Given the description of an element on the screen output the (x, y) to click on. 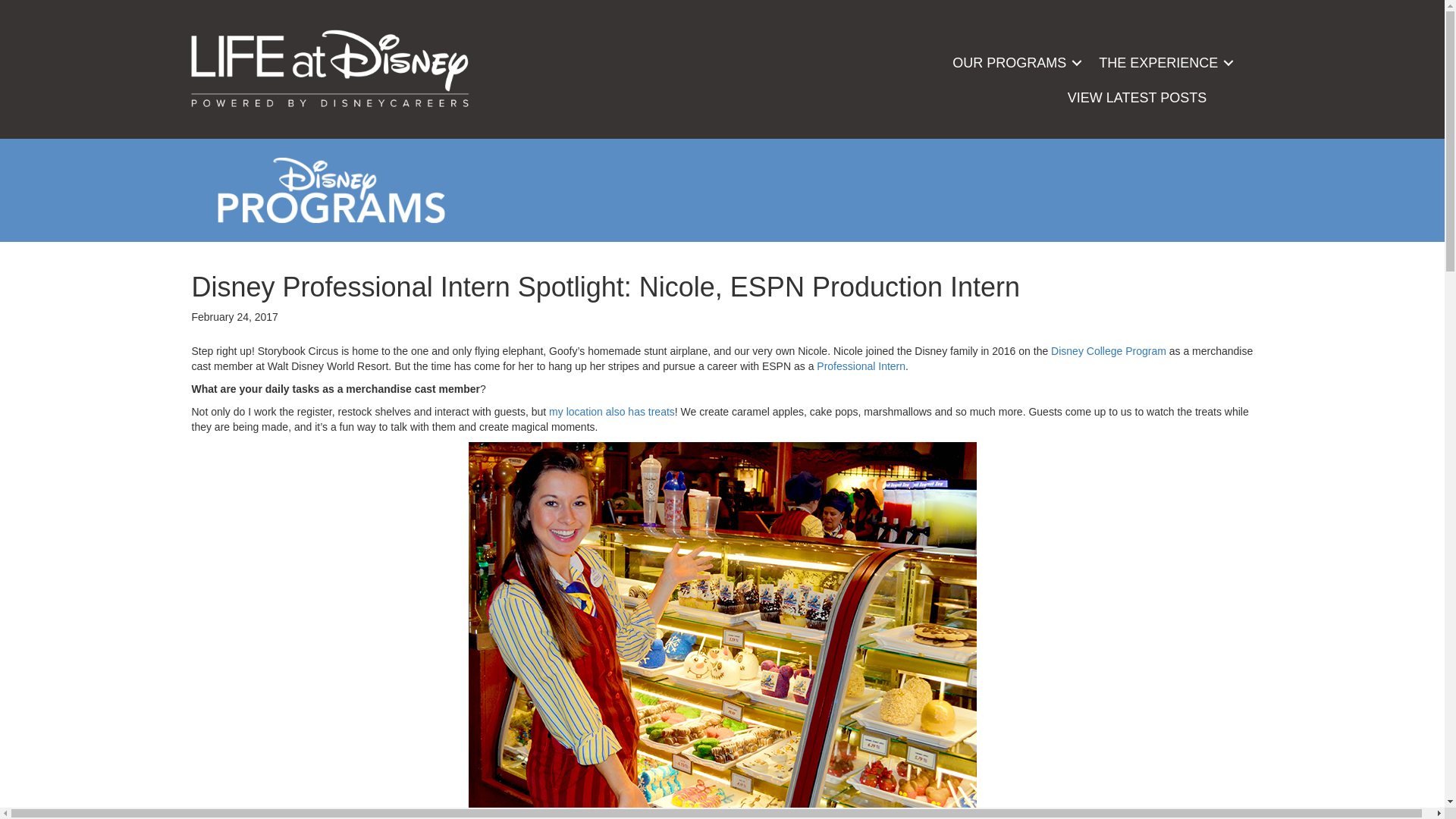
THE EXPERIENCE (1163, 62)
Professional Intern (860, 366)
logo-disney-programs (330, 190)
my location also has treats (611, 411)
VIEW LATEST POSTS (1137, 97)
Disney College Program (1108, 350)
OUR PROGRAMS (1014, 62)
